Given the description of an element on the screen output the (x, y) to click on. 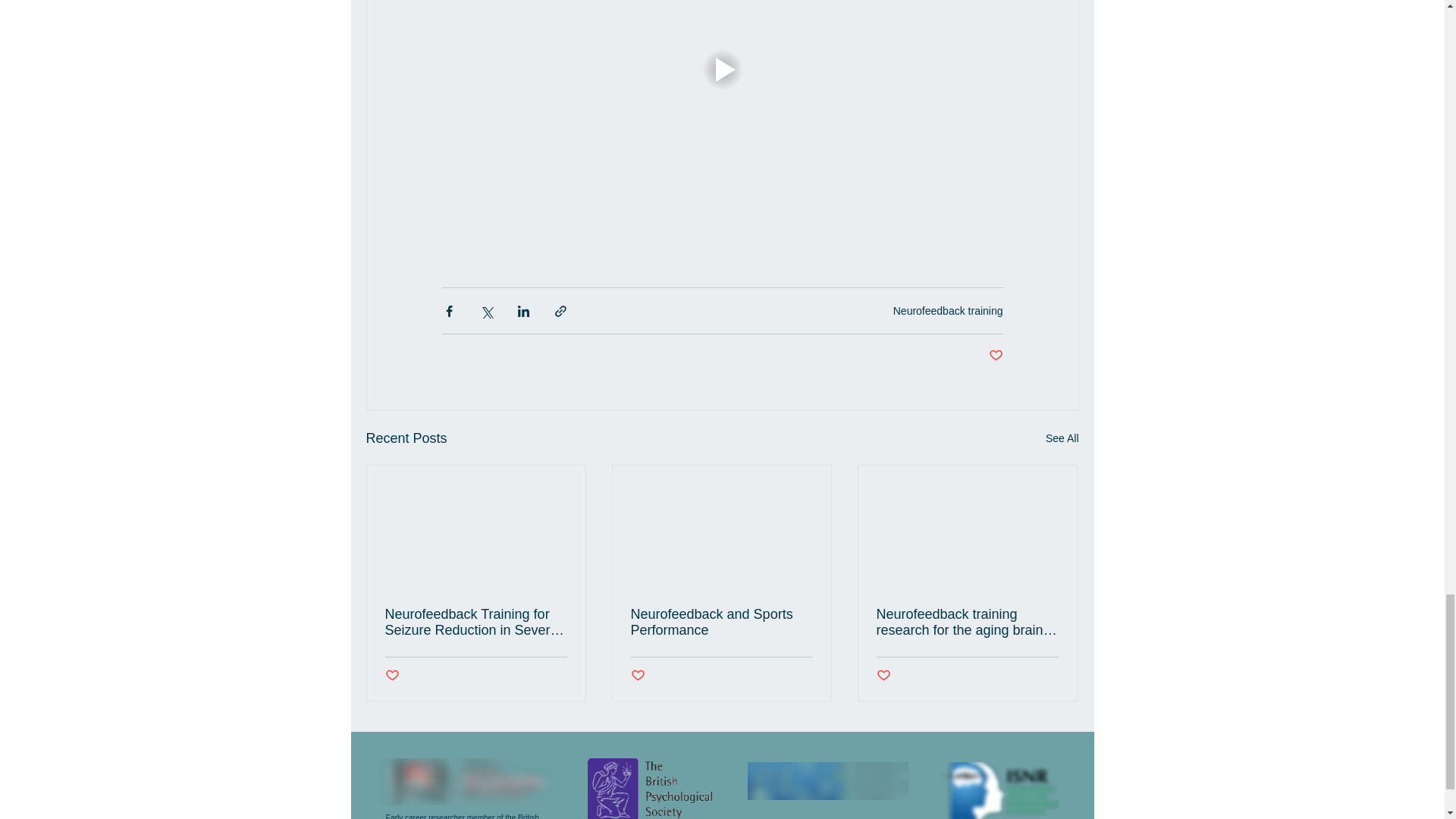
See All (1061, 438)
Post not marked as liked (637, 675)
Post not marked as liked (883, 675)
Neurofeedback training (948, 310)
Neurofeedback and Sports Performance (721, 622)
Post not marked as liked (995, 355)
Post not marked as liked (391, 675)
